Given the description of an element on the screen output the (x, y) to click on. 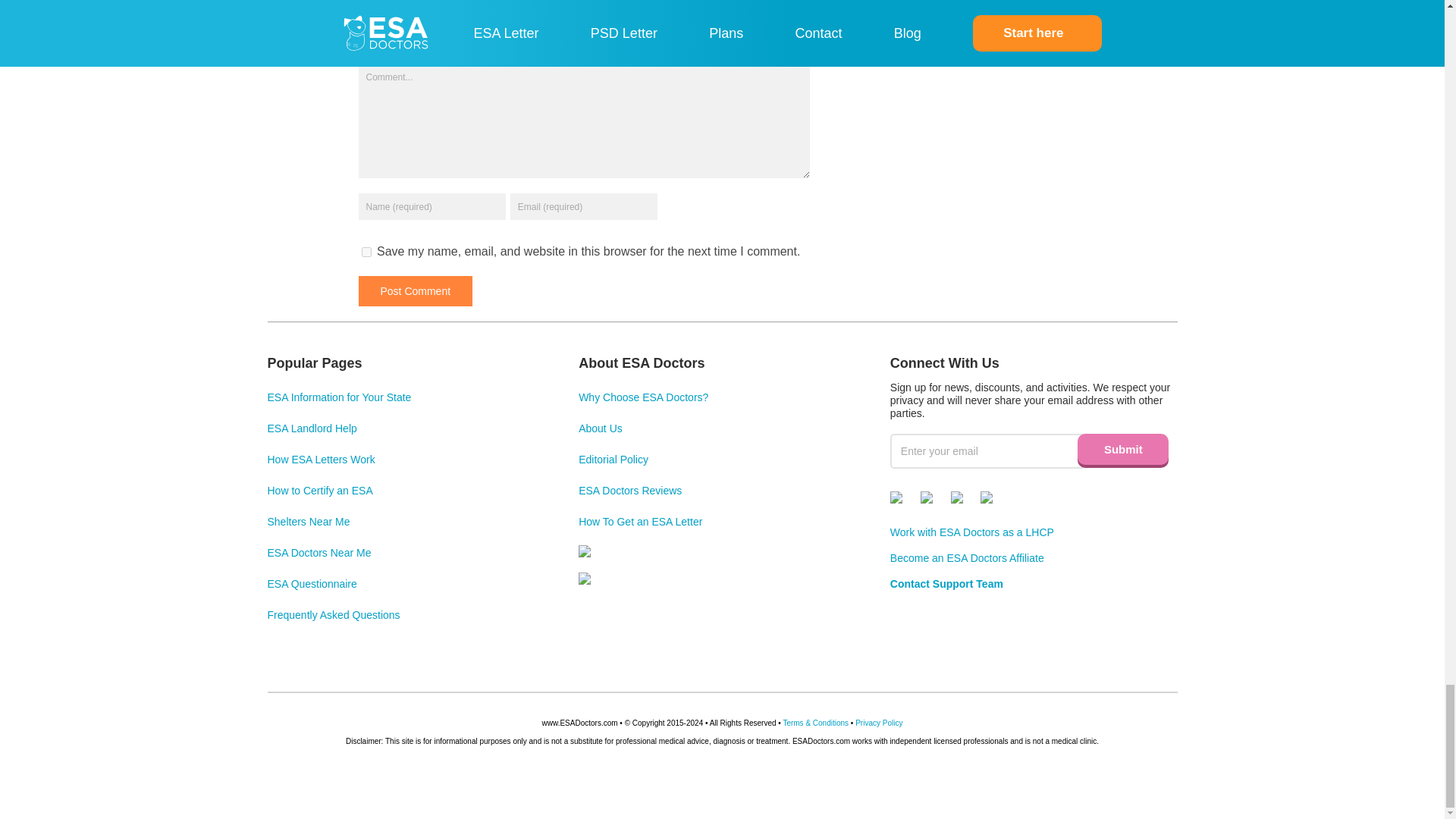
Post Comment (414, 291)
Submit (1123, 449)
yes (366, 252)
